Given the description of an element on the screen output the (x, y) to click on. 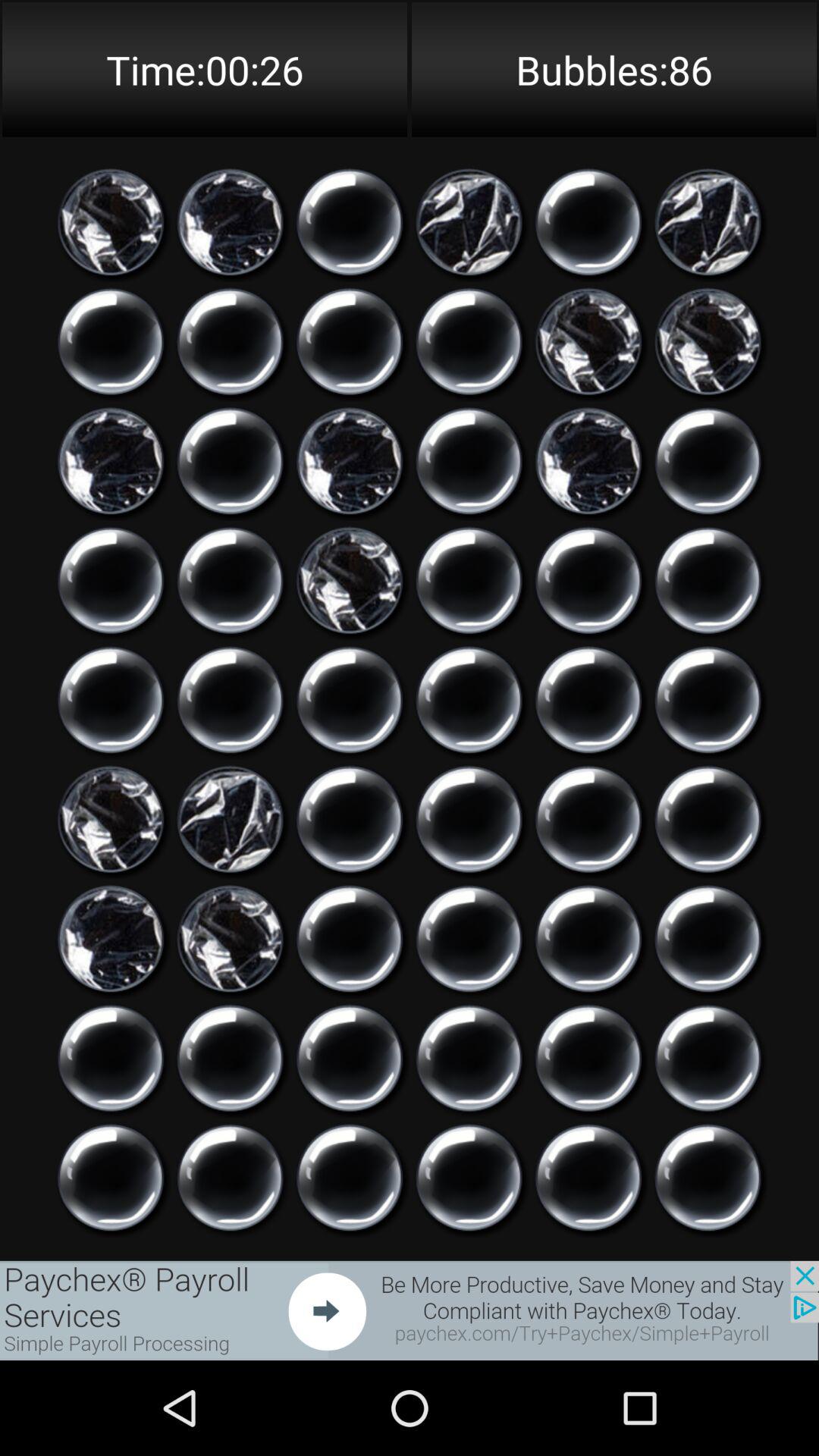
burst bubbles (468, 699)
